Given the description of an element on the screen output the (x, y) to click on. 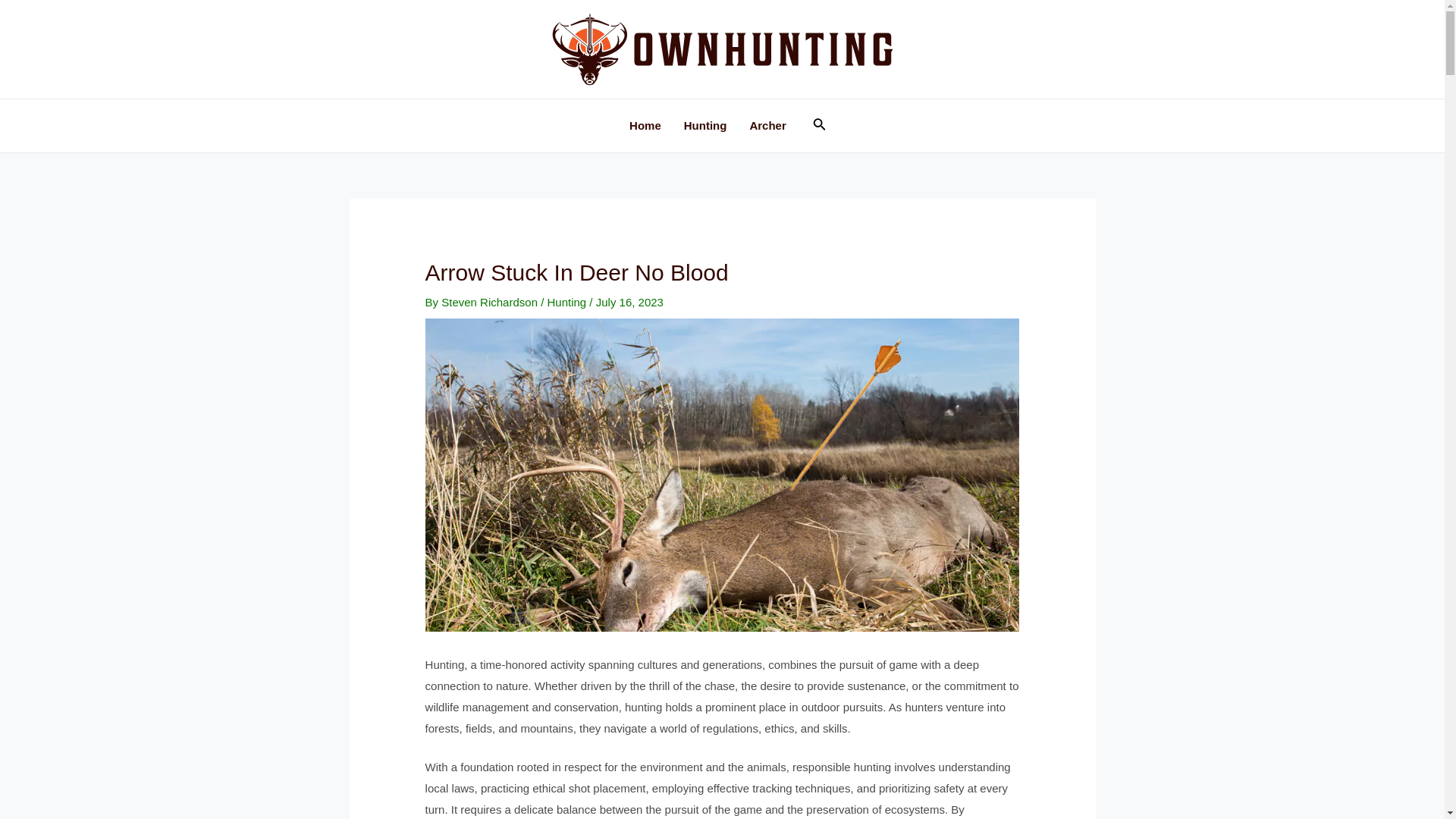
Steven Richardson (490, 301)
Hunting (566, 301)
View all posts by Steven Richardson (490, 301)
Search (819, 125)
Home (644, 125)
Hunting (705, 125)
Archer (767, 125)
